Given the description of an element on the screen output the (x, y) to click on. 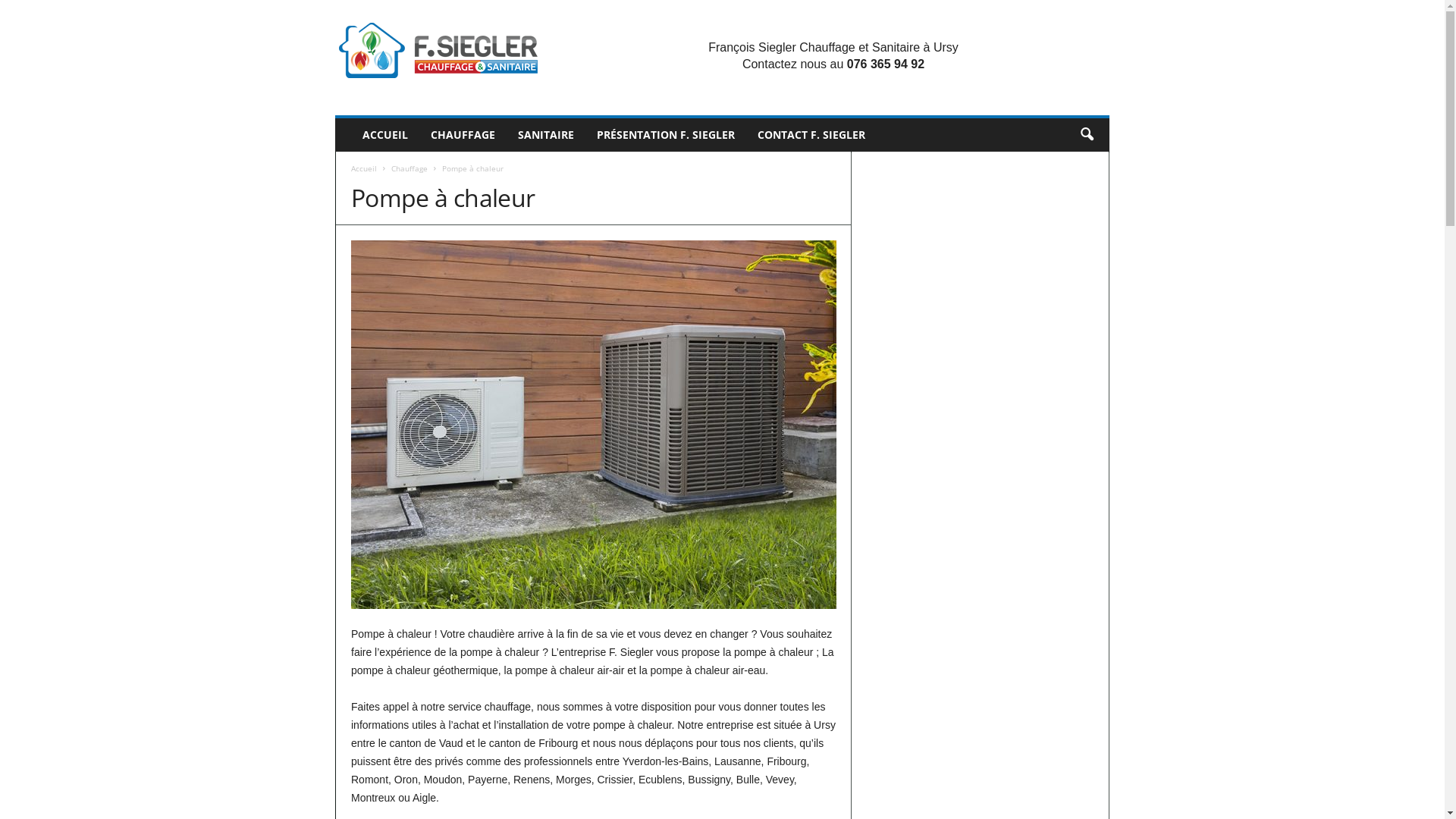
ACCUEIL Element type: text (385, 134)
CHAUFFAGE Element type: text (462, 134)
Accueil Element type: text (363, 168)
Chauffage Element type: text (409, 168)
pompe-a-chaleur Element type: hover (593, 424)
SANITAIRE Element type: text (545, 134)
Chauffage sanitaire F.Siegler Element type: text (438, 49)
CONTACT F. SIEGLER Element type: text (811, 134)
sanitaire et chauffage F Siegler Element type: hover (438, 49)
